Given the description of an element on the screen output the (x, y) to click on. 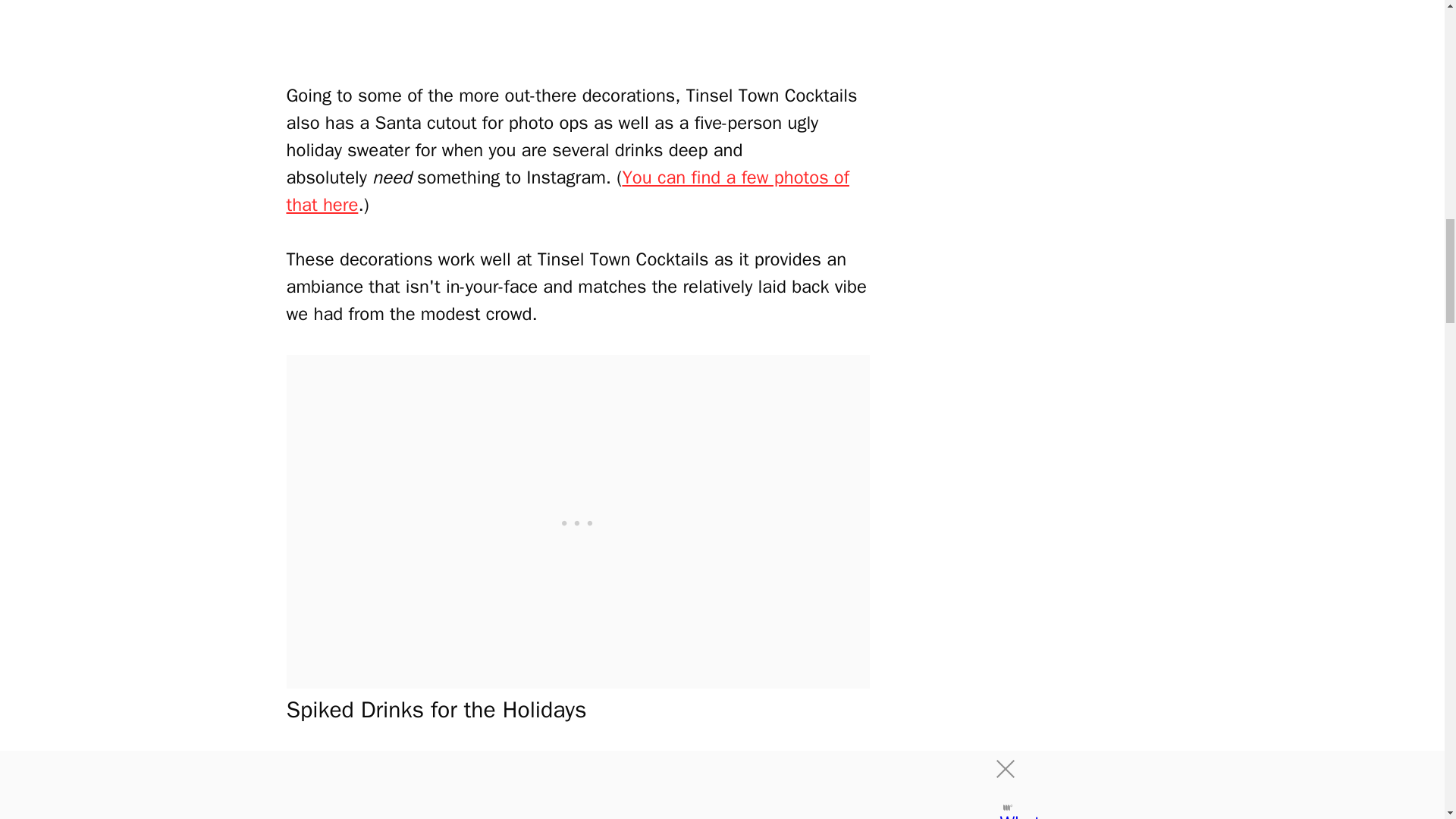
Tinsel Town Cocktails (577, 27)
Holiday Drinks in Pittsburgh (577, 785)
